Given the description of an element on the screen output the (x, y) to click on. 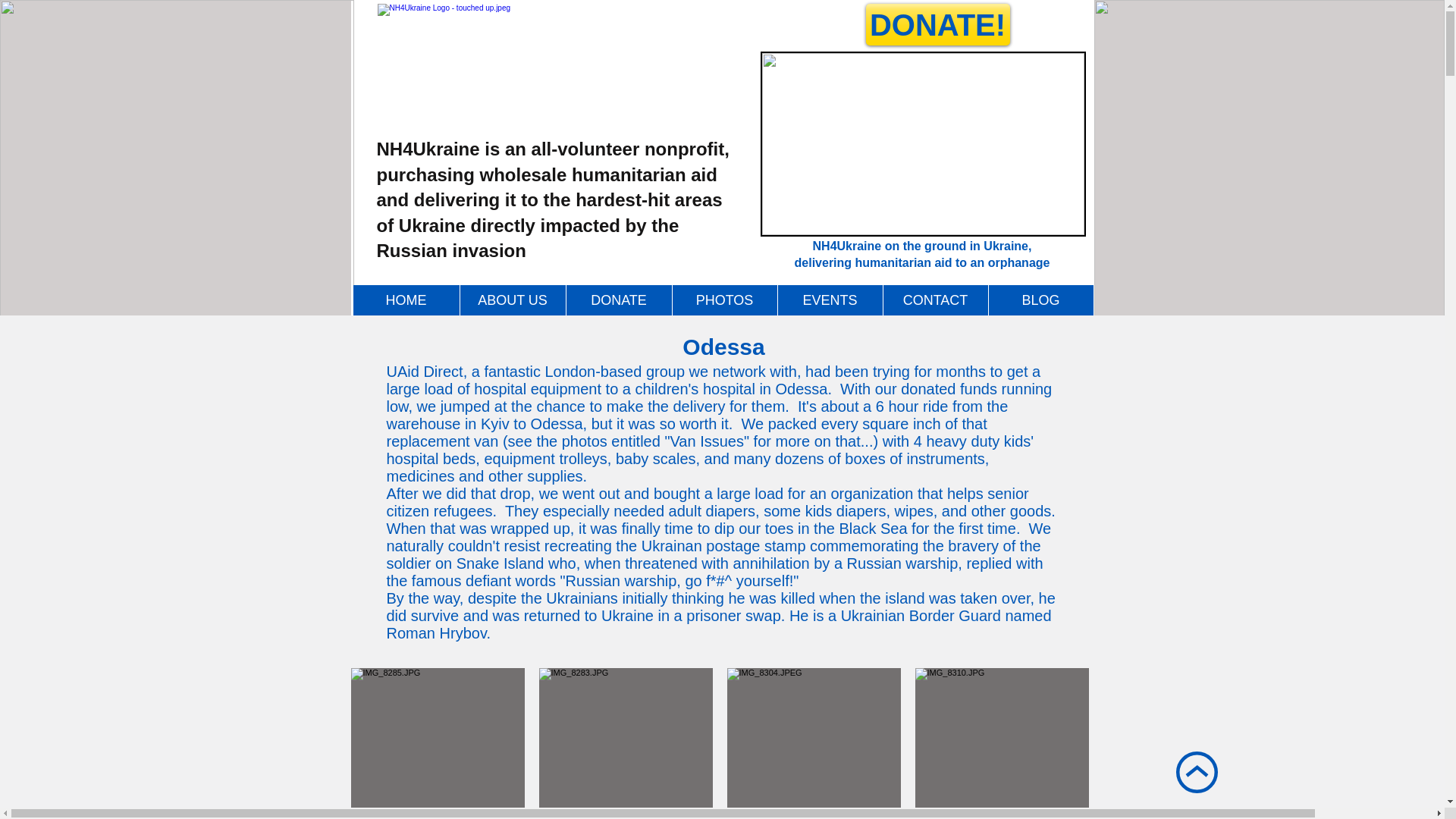
HOME (406, 300)
DONATE (618, 300)
EVENTS (829, 300)
PHOTOS (724, 300)
DONATE! (938, 24)
Yellow Flowers (176, 161)
CONTACT (935, 300)
BLOG (1040, 300)
ABOUT US (513, 300)
Yellow Flowers (1274, 159)
